Given the description of an element on the screen output the (x, y) to click on. 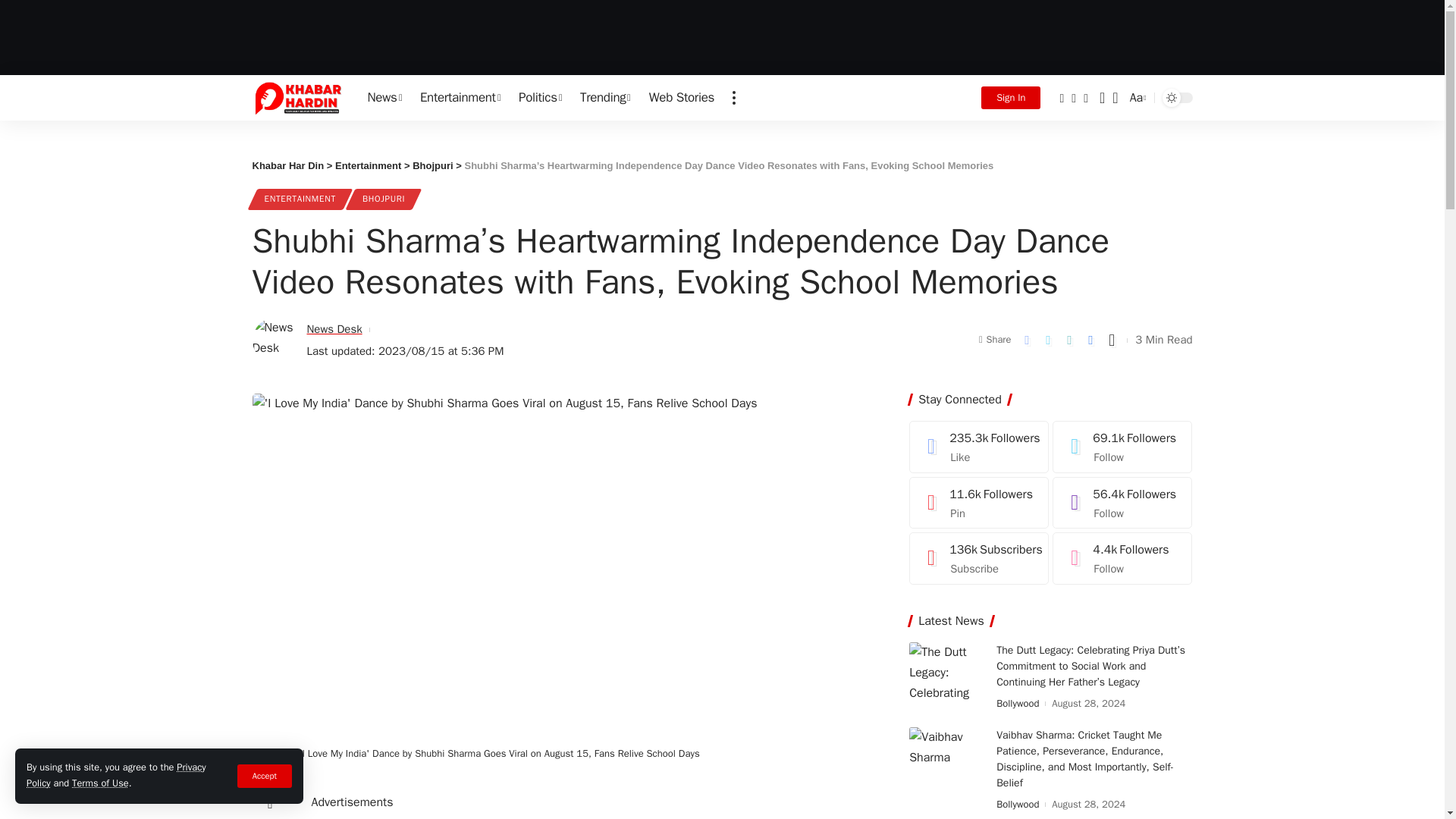
Accept (264, 775)
Sign In (1011, 97)
Politics (539, 97)
Terms of Use (100, 783)
Entertainment (459, 97)
Privacy Policy (116, 775)
Go to Khabar Har Din. (287, 165)
Go to the Entertainment Category archives. (367, 165)
Khabar Har Din (296, 97)
